Given the description of an element on the screen output the (x, y) to click on. 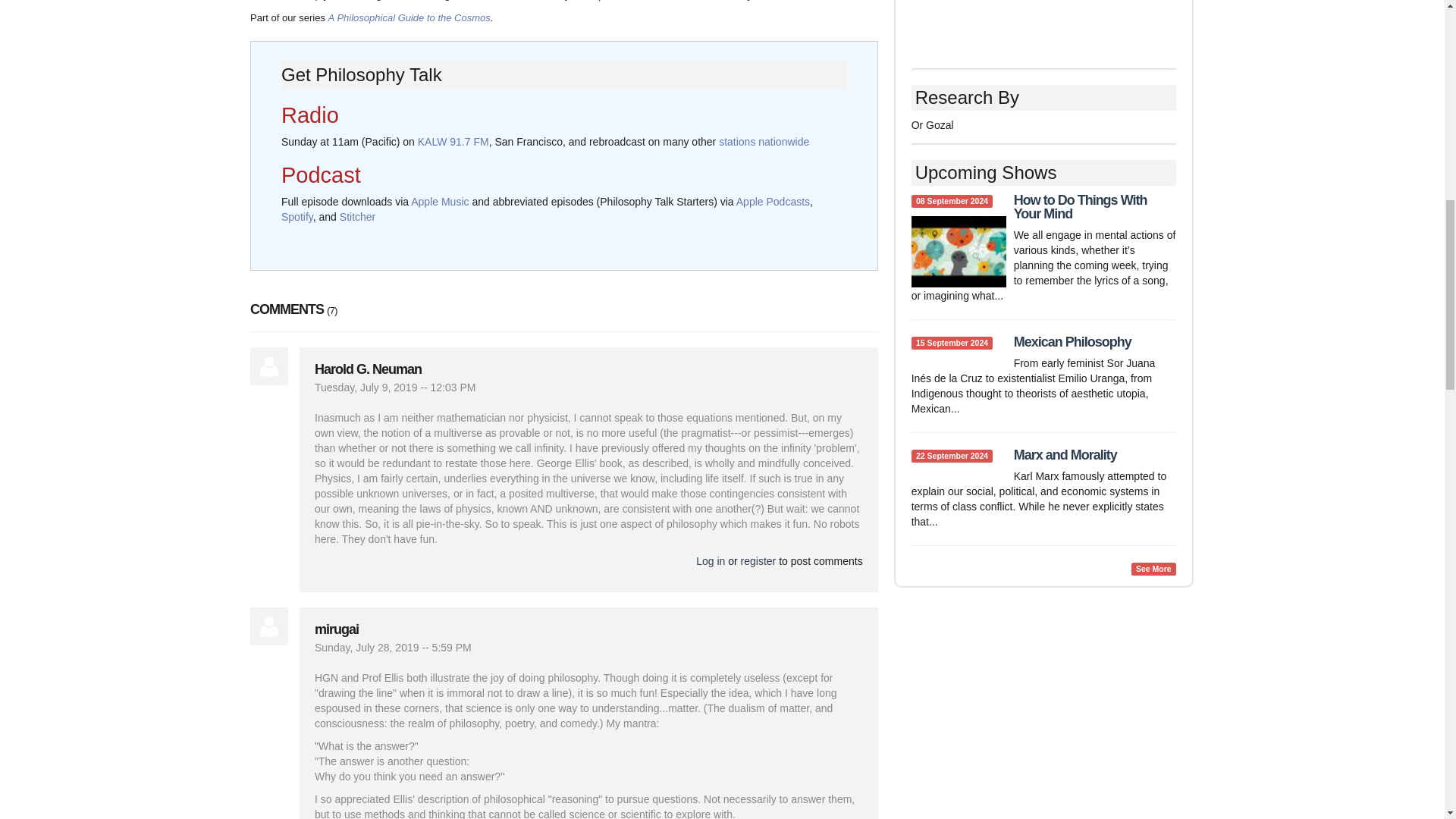
mirugai's picture (269, 626)
KALW 91.7 FM (453, 141)
Apple Music (439, 201)
stations nationwide (764, 141)
Harold G. Neuman's picture (269, 365)
A Philosophical Guide to the Cosmos (409, 17)
